Given the description of an element on the screen output the (x, y) to click on. 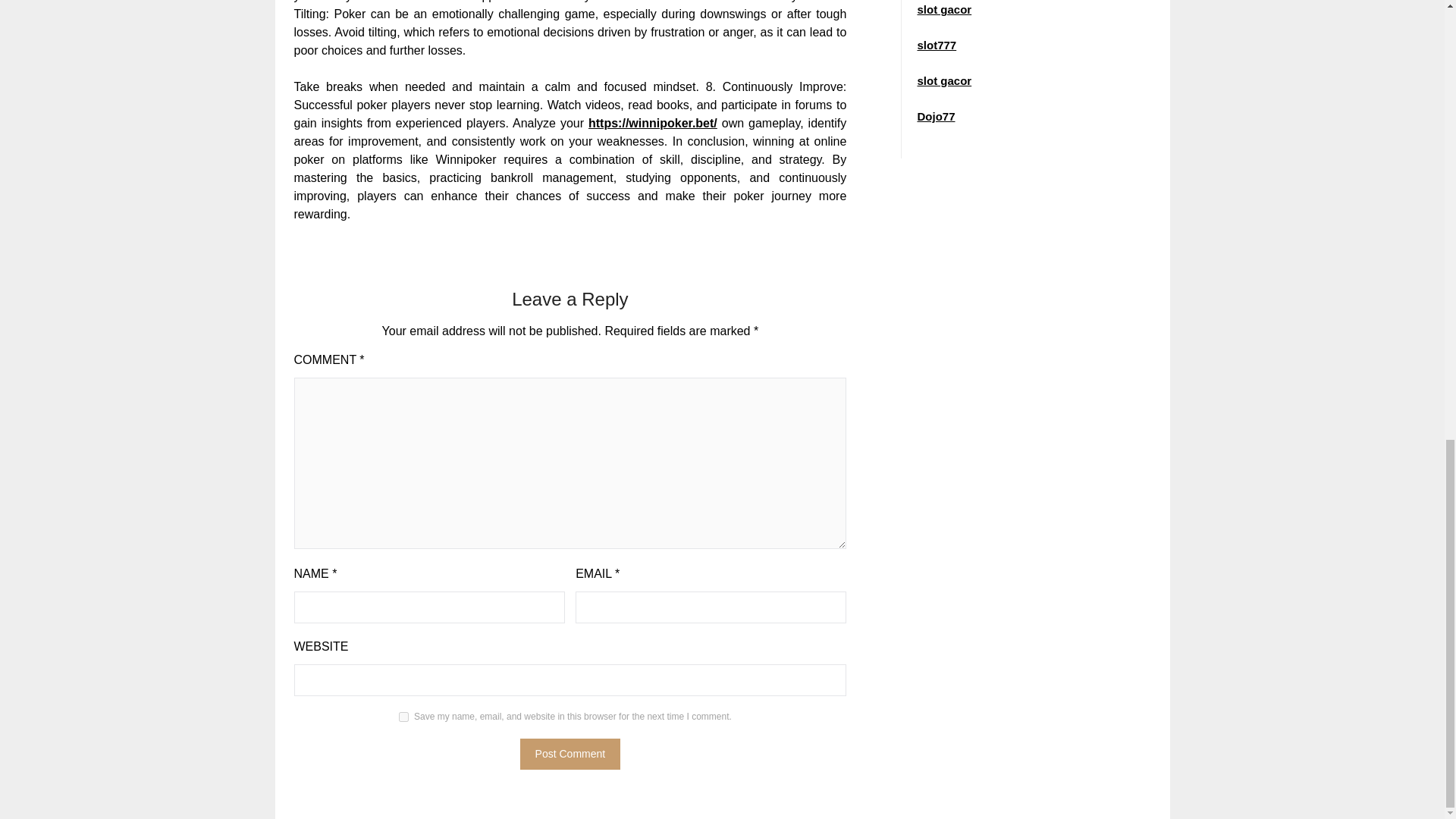
slot gacor (944, 9)
yes (403, 716)
Post Comment (570, 753)
Dojo77 (936, 115)
Post Comment (570, 753)
slot777 (936, 44)
slot gacor (944, 80)
